Given the description of an element on the screen output the (x, y) to click on. 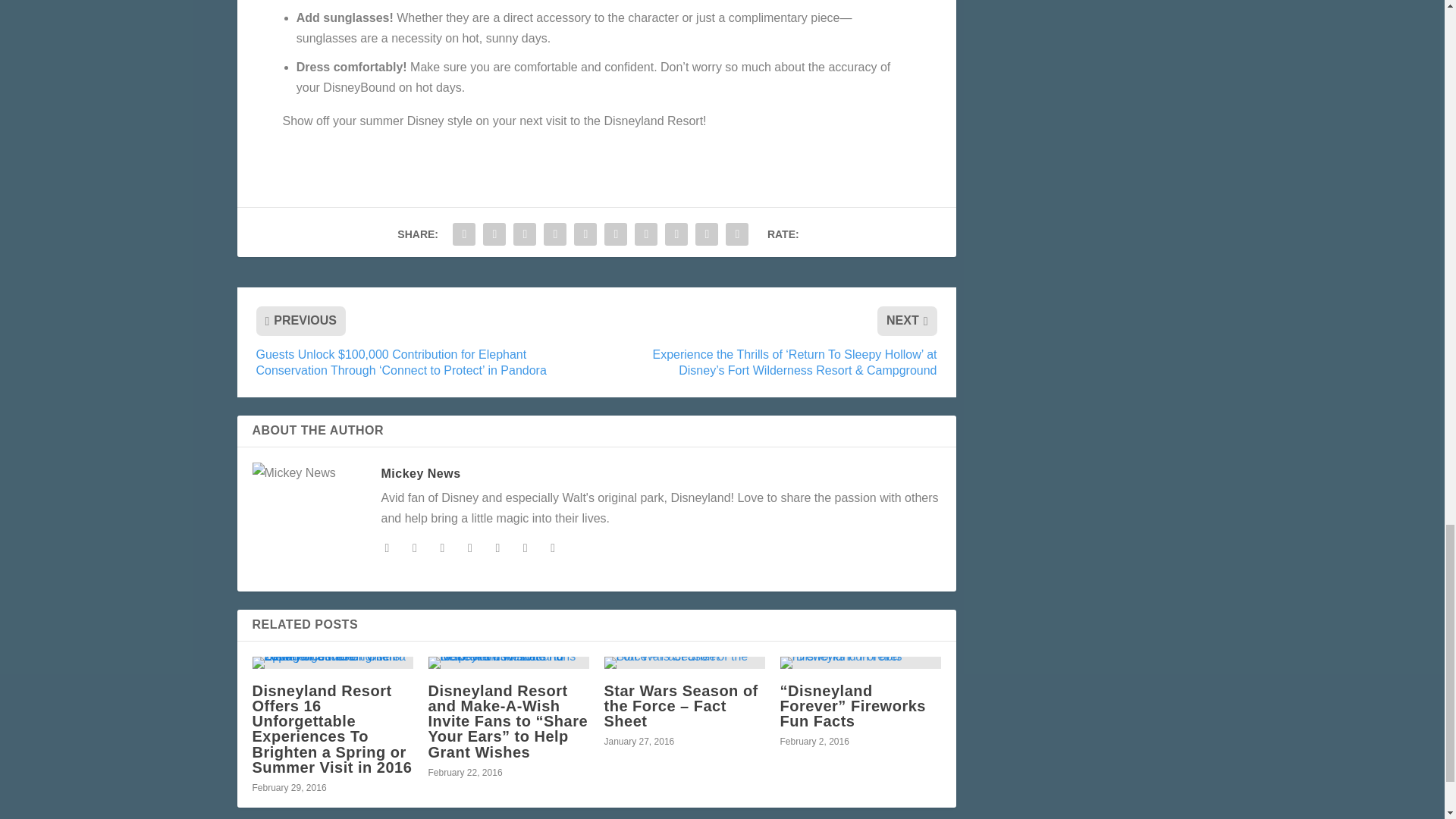
View all posts by Mickey News (420, 472)
